Given the description of an element on the screen output the (x, y) to click on. 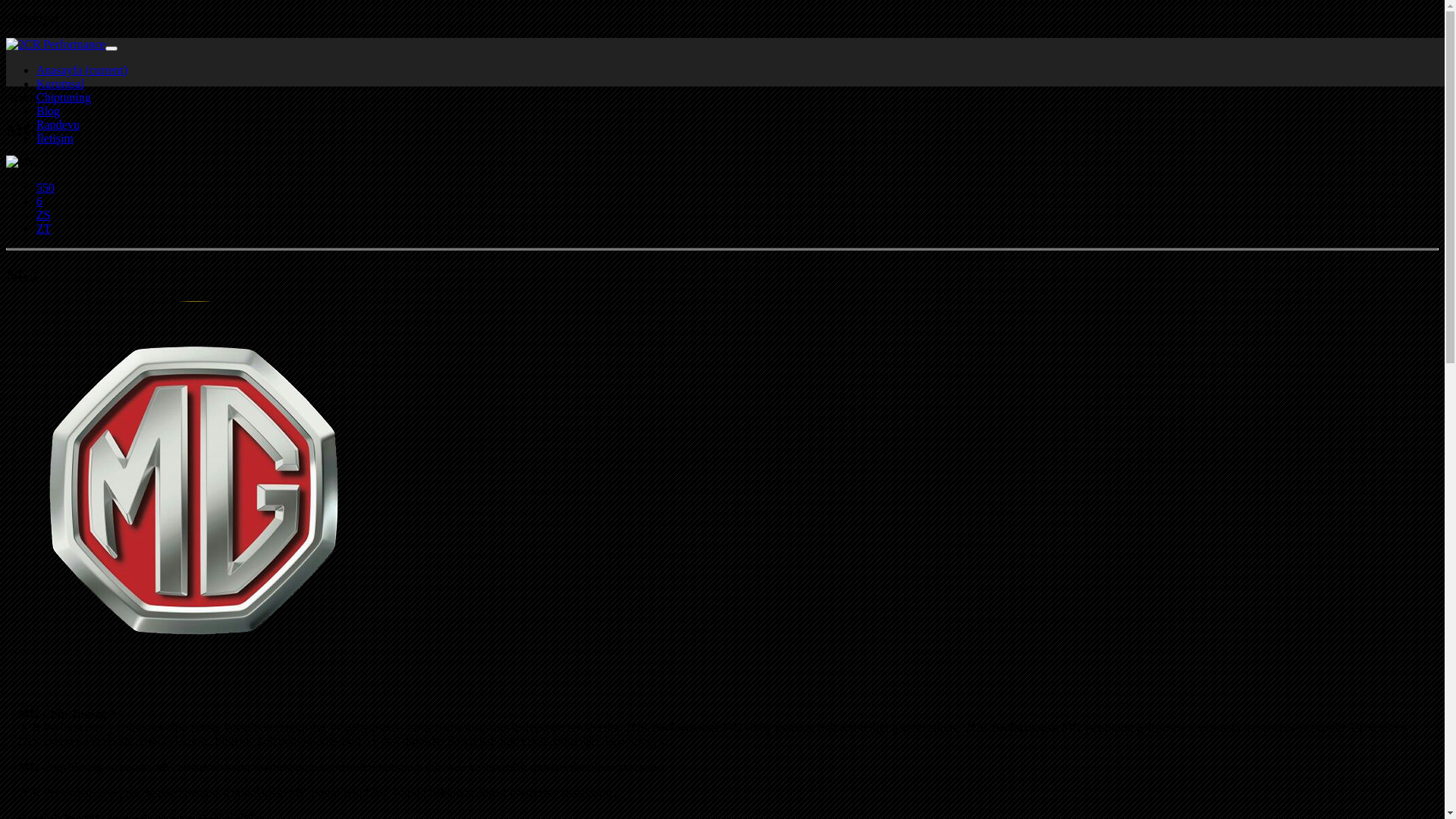
Anasayfa (current) Element type: text (81, 69)
Anasayfa Element type: text (58, 43)
550 Element type: text (45, 187)
Chiptuning Element type: text (63, 57)
Chiptuning Element type: text (63, 97)
ZT Element type: text (43, 228)
Randevu Element type: text (57, 124)
Kurumsal Element type: text (60, 83)
Blog Element type: text (47, 110)
ZS Element type: text (43, 214)
6 Element type: text (39, 200)
